Given the description of an element on the screen output the (x, y) to click on. 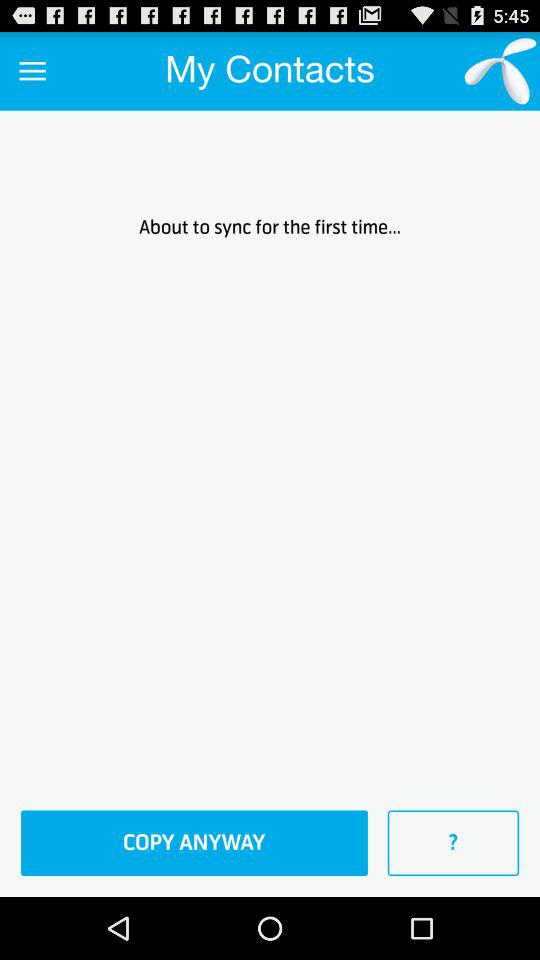
turn on icon to the left of the  ?  item (194, 843)
